Given the description of an element on the screen output the (x, y) to click on. 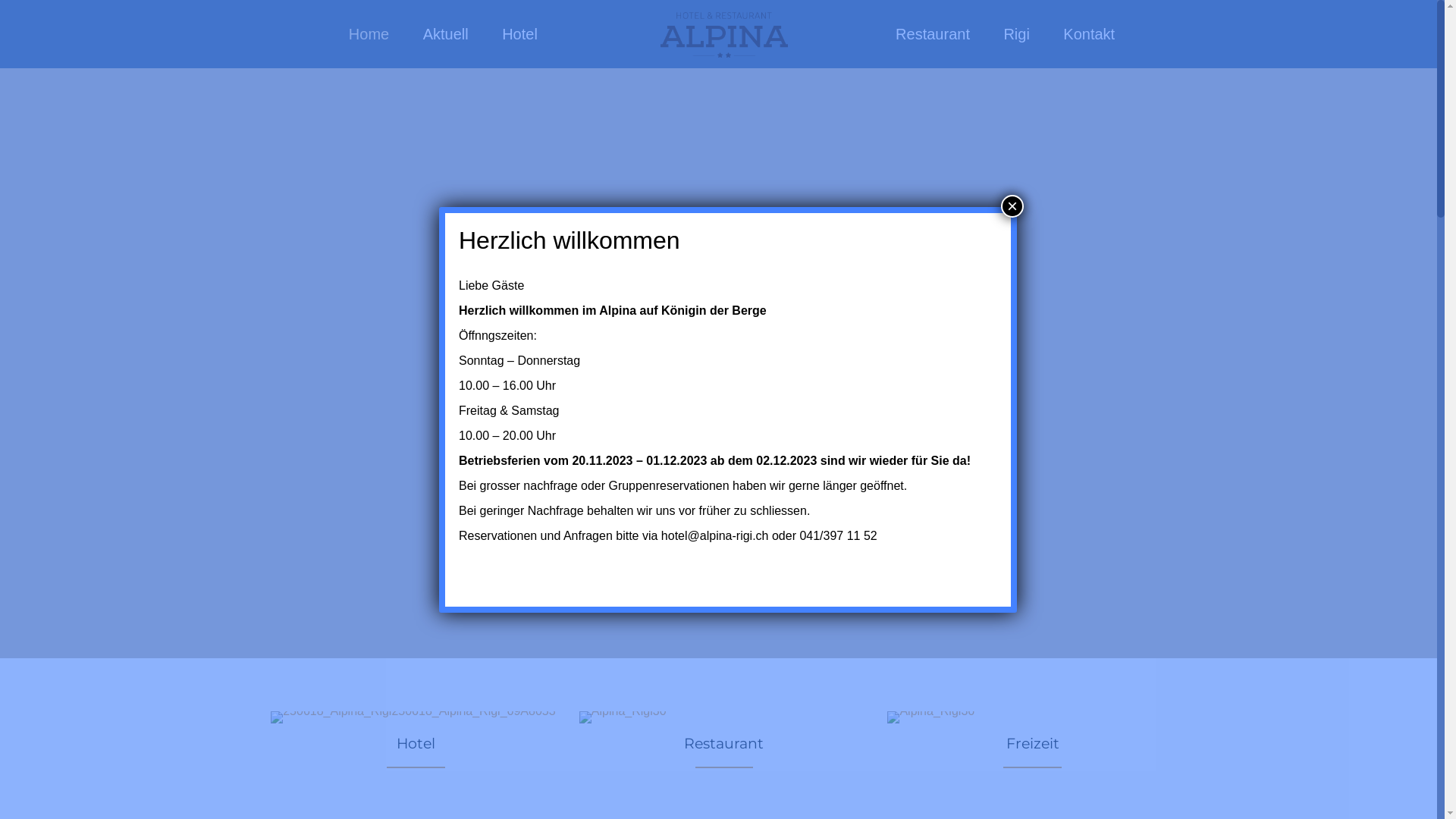
Restaurant Element type: text (932, 34)
Kontakt Element type: text (1088, 34)
Hotel Element type: text (519, 34)
Aktuell Element type: text (445, 34)
Hotel Element type: text (415, 747)
Restaurant Element type: text (724, 747)
Freizeit Element type: text (1031, 747)
Rigi Element type: text (1016, 34)
Hotel Restaurant Alpina Element type: hover (724, 34)
Home Element type: text (368, 34)
